Given the description of an element on the screen output the (x, y) to click on. 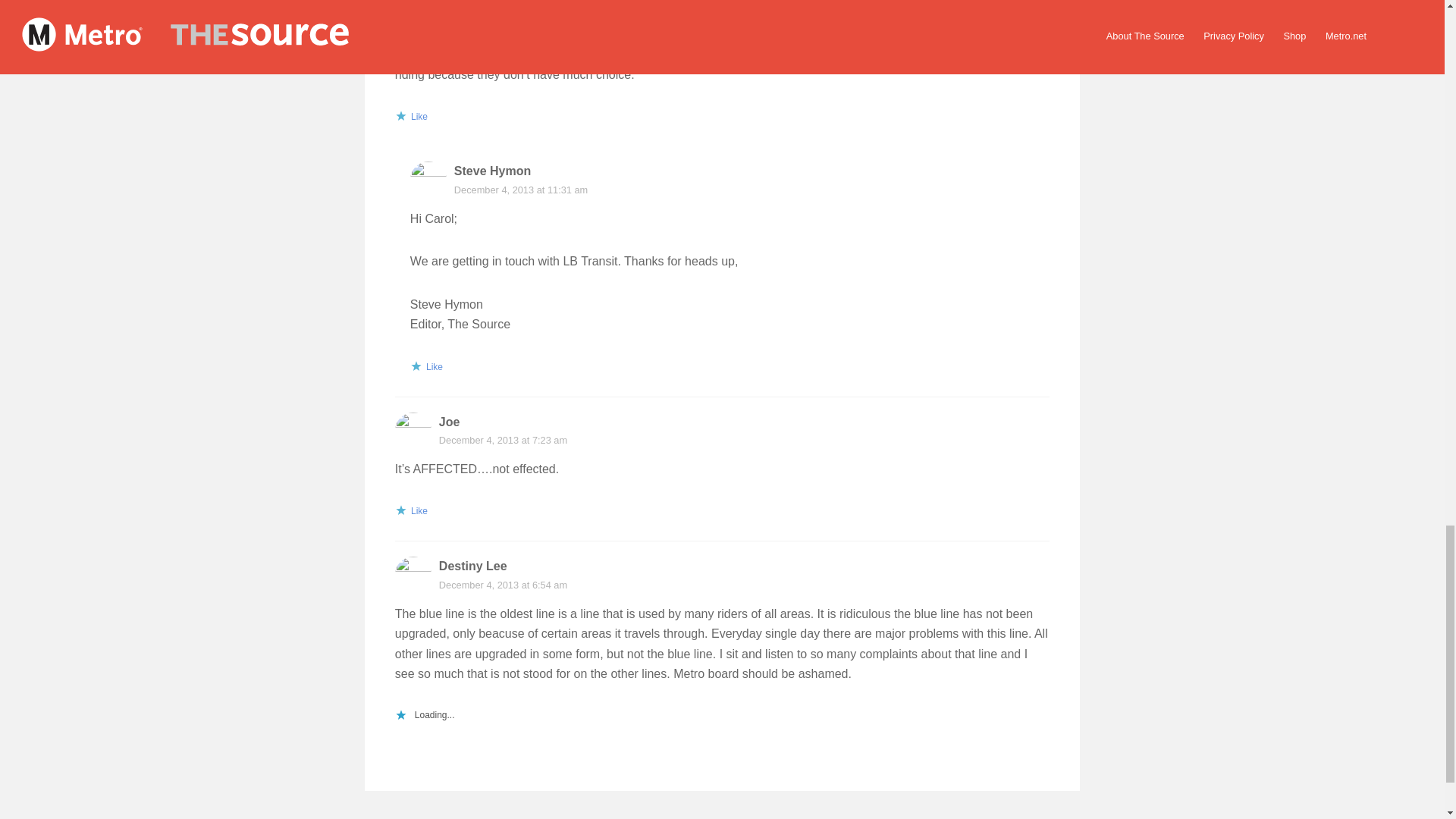
December 4, 2013 at 11:31 am (521, 189)
December 4, 2013 at 7:23 am (503, 439)
